Given the description of an element on the screen output the (x, y) to click on. 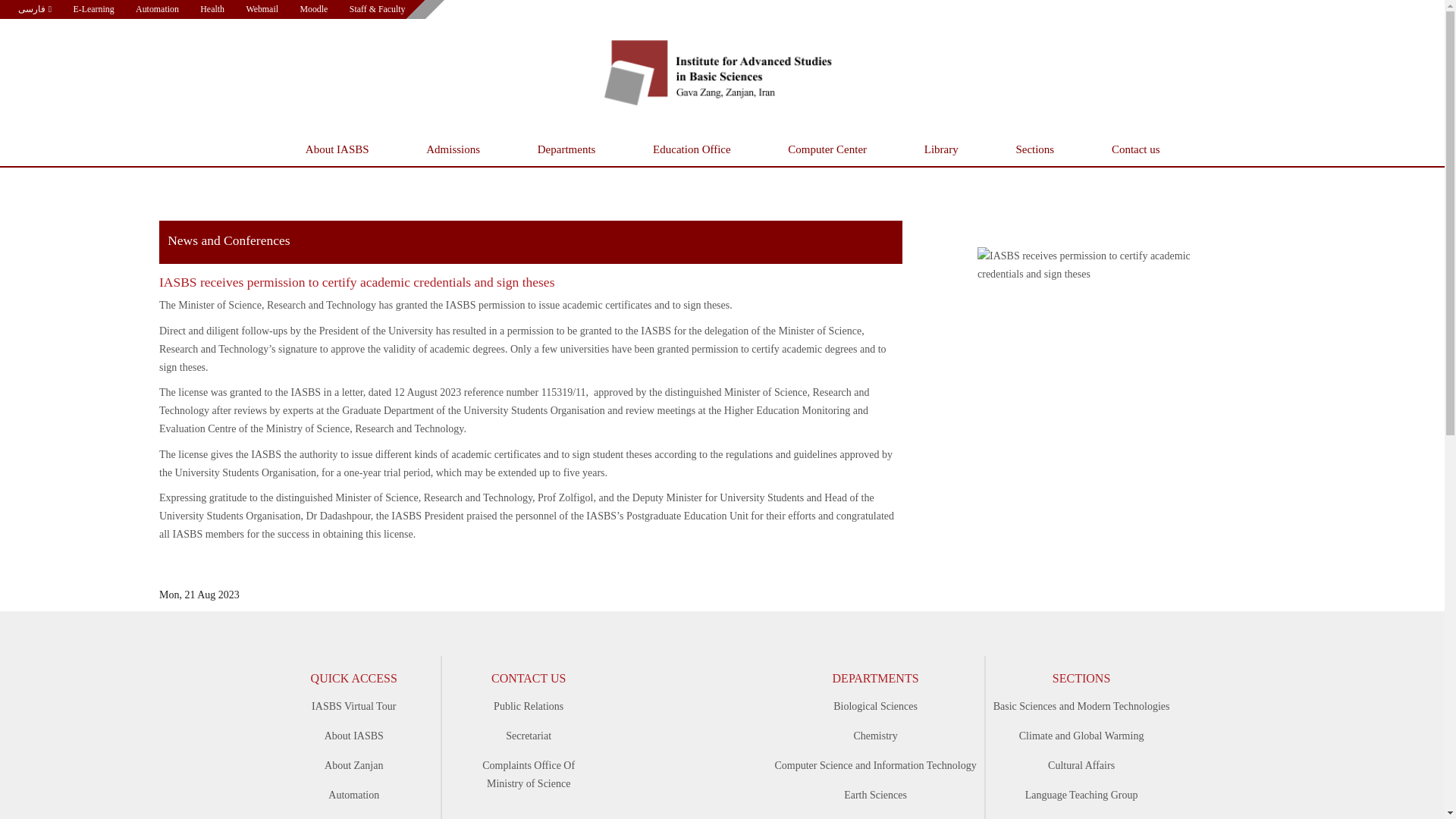
Computer Center (827, 149)
Library (941, 149)
Departments (566, 149)
Sections (1035, 149)
Contact us (1135, 149)
Education Office (691, 149)
Admissions (452, 149)
Webmail (262, 8)
Moodle (314, 8)
Health (212, 8)
